Given the description of an element on the screen output the (x, y) to click on. 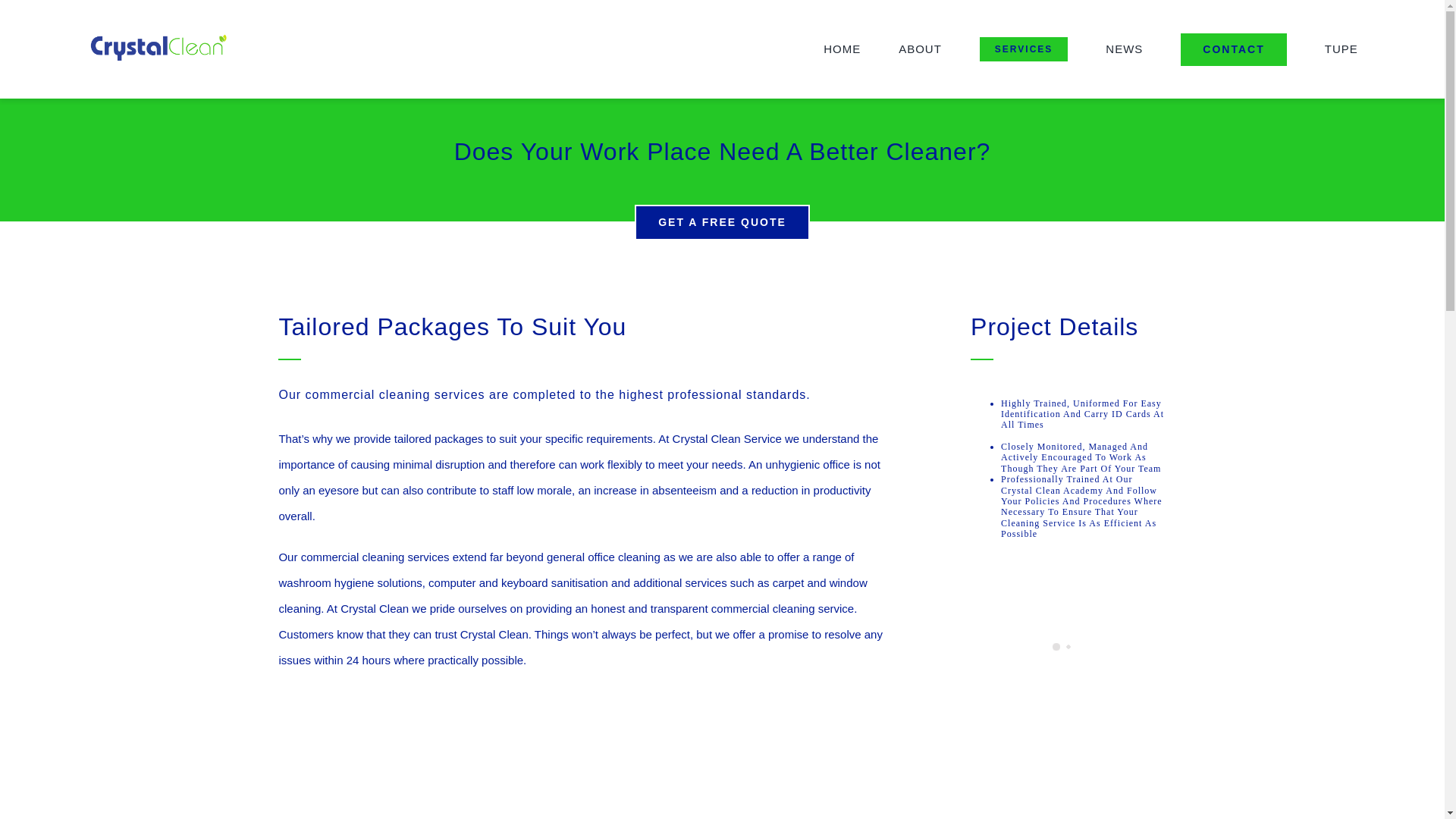
SERVICES (1023, 49)
GET A FREE QUOTE (721, 222)
CONTACT (1232, 49)
